Given the description of an element on the screen output the (x, y) to click on. 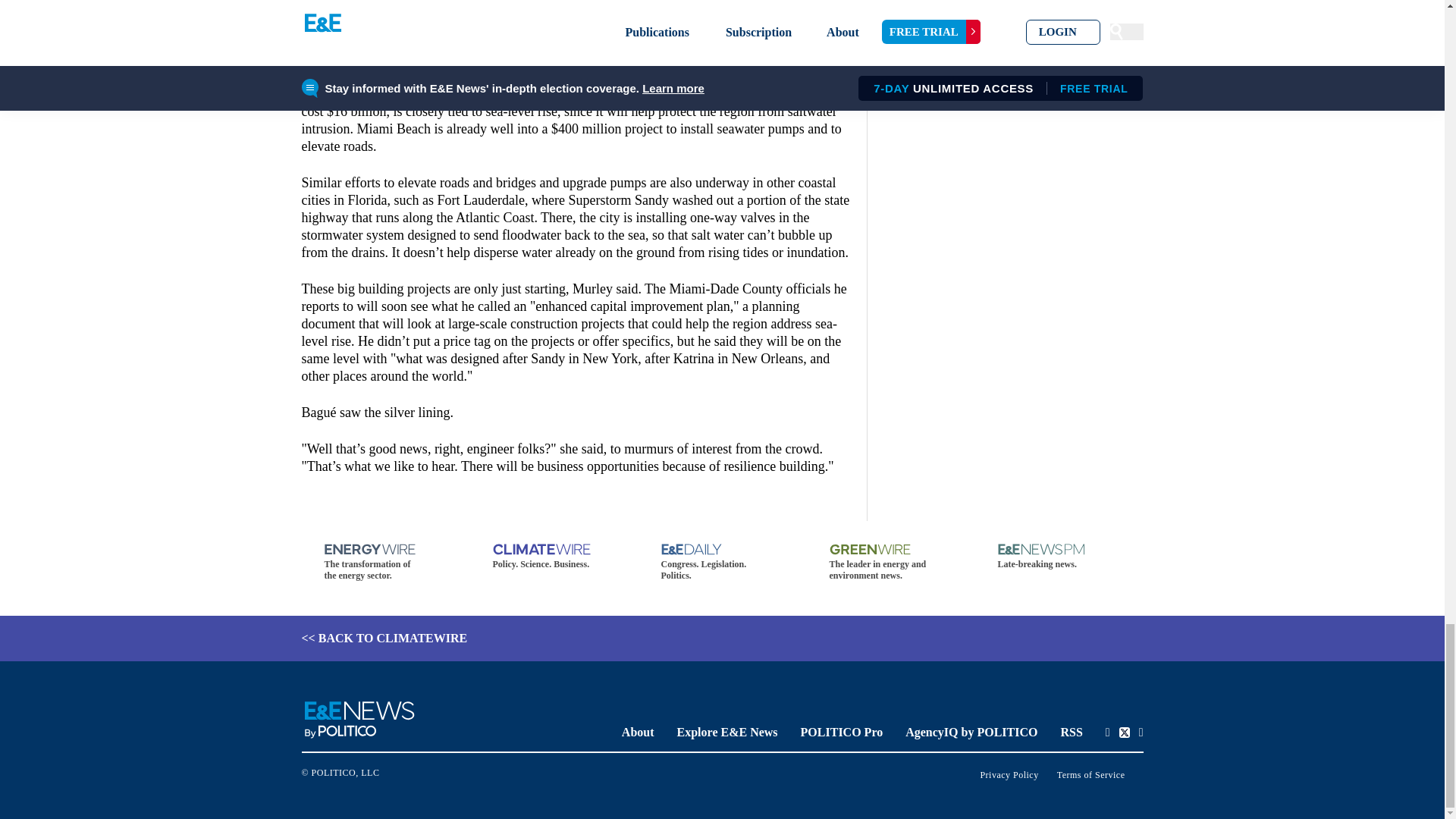
POLITICO Pro (841, 731)
The leader in energy and environment news. (890, 562)
About (637, 731)
RSS (1070, 731)
AgencyIQ by POLITICO (970, 731)
Policy. Science. Business. (554, 556)
Congress. Legislation. Politics. (722, 562)
Late-breaking news. (1058, 556)
The transformation of the energy sector. (385, 562)
